Given the description of an element on the screen output the (x, y) to click on. 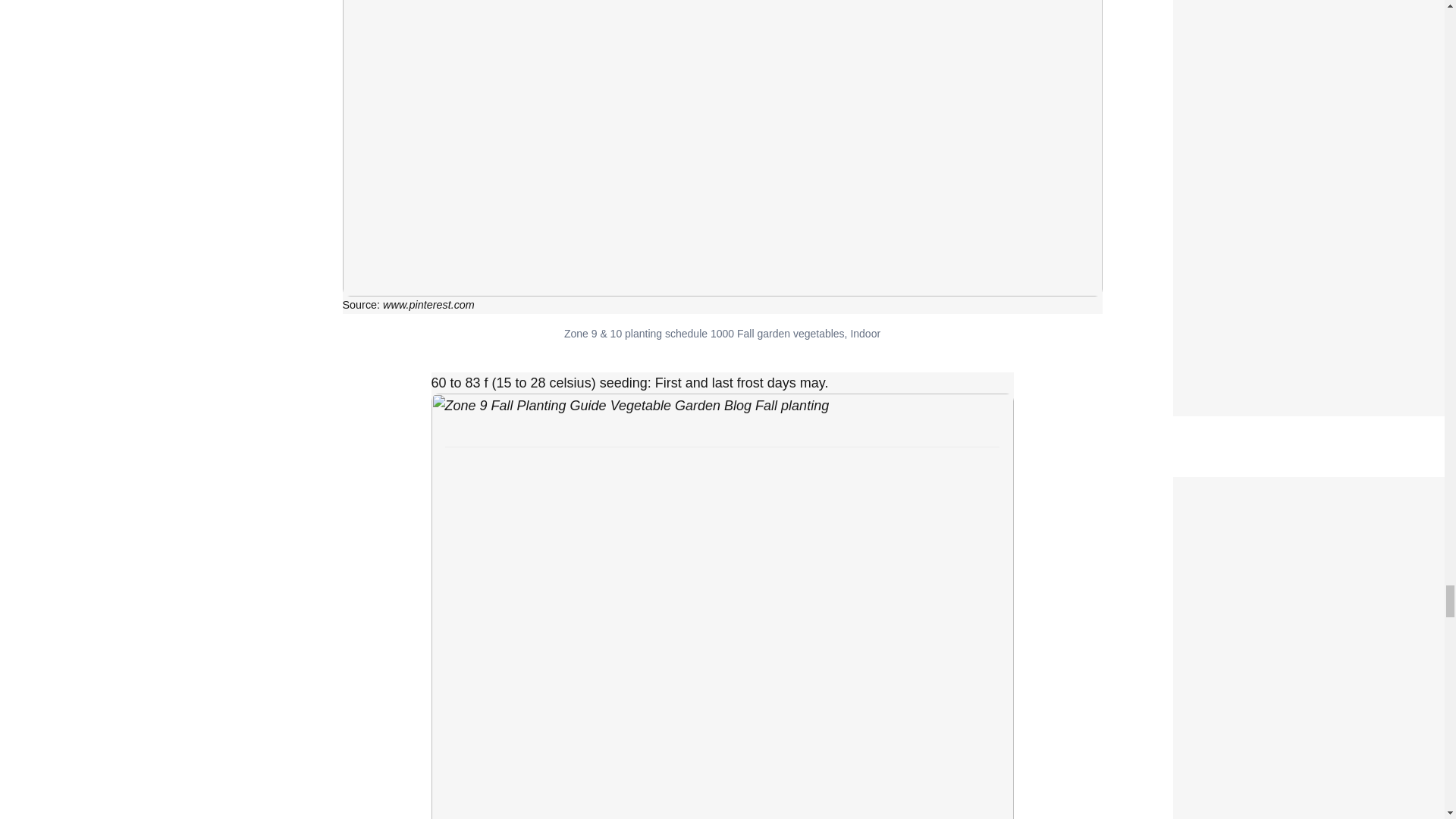
Buy Plants For Garden Near Me (1275, 486)
